Given the description of an element on the screen output the (x, y) to click on. 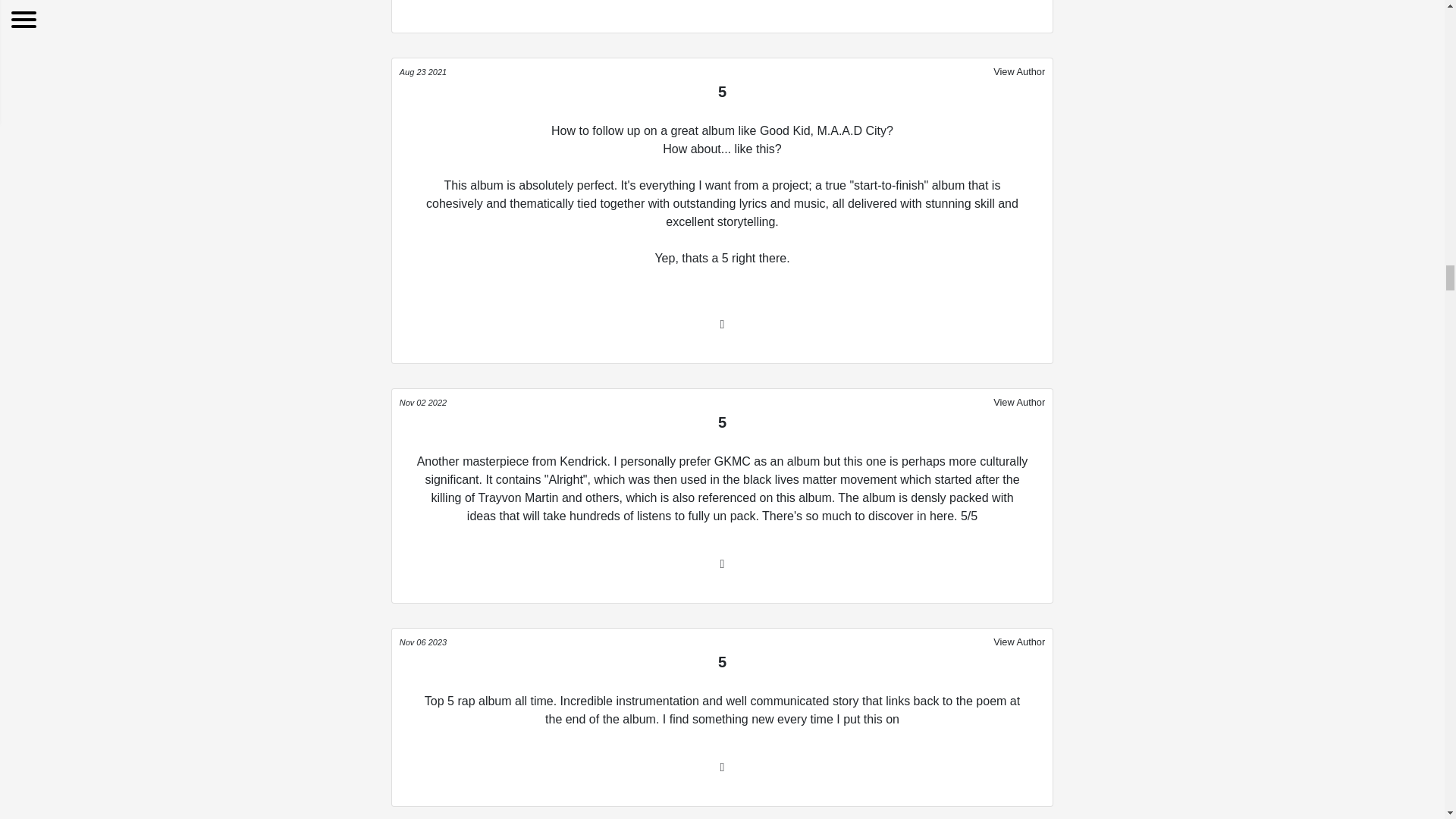
View Author (1018, 641)
View Author (1018, 71)
View Author (1018, 402)
